Given the description of an element on the screen output the (x, y) to click on. 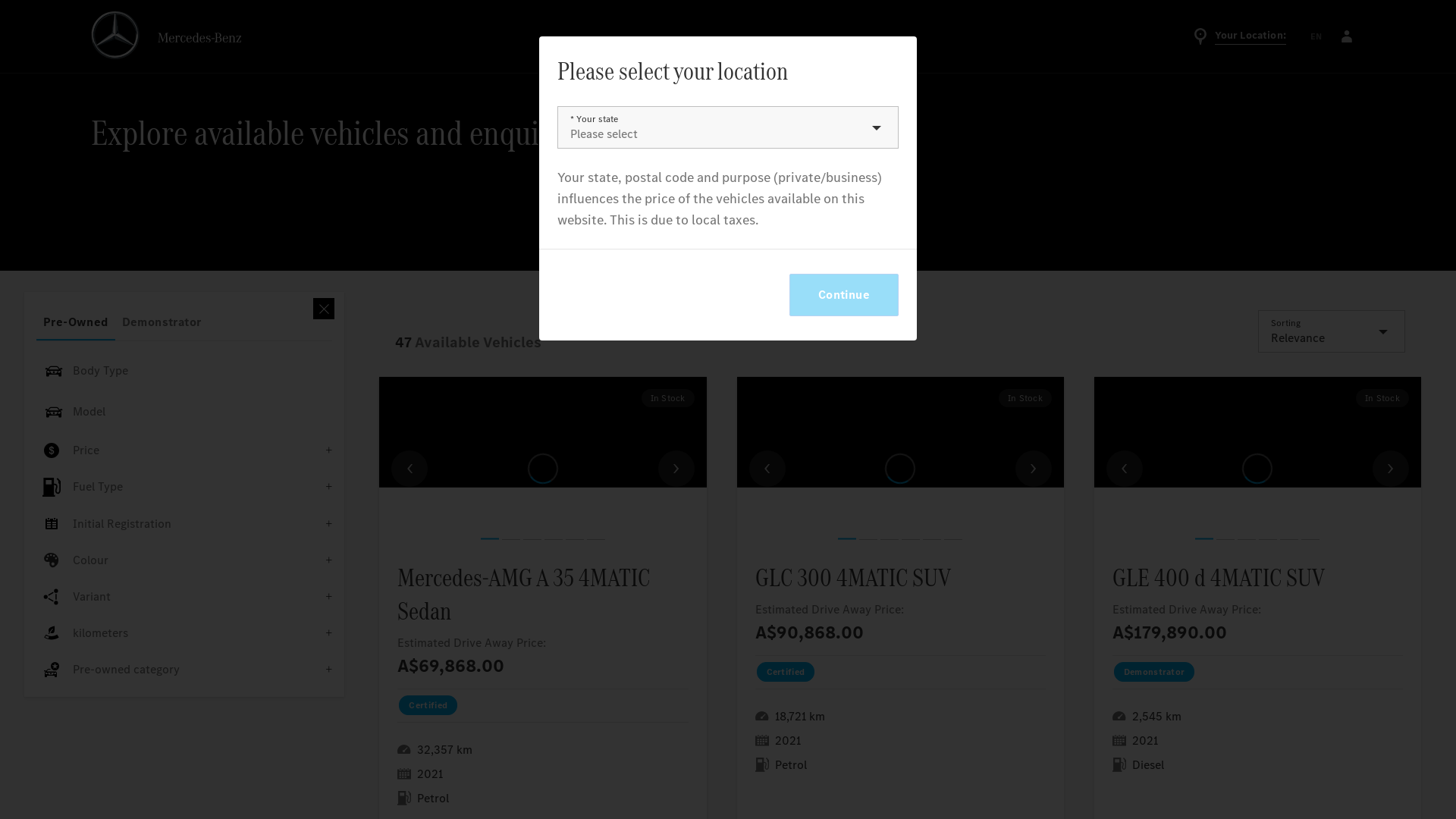
Pre-Owned Element type: text (75, 322)
Demonstrator Element type: text (161, 322)
Continue Element type: text (843, 294)
Your Location: Element type: text (1239, 36)
EN Element type: text (1316, 36)
